Given the description of an element on the screen output the (x, y) to click on. 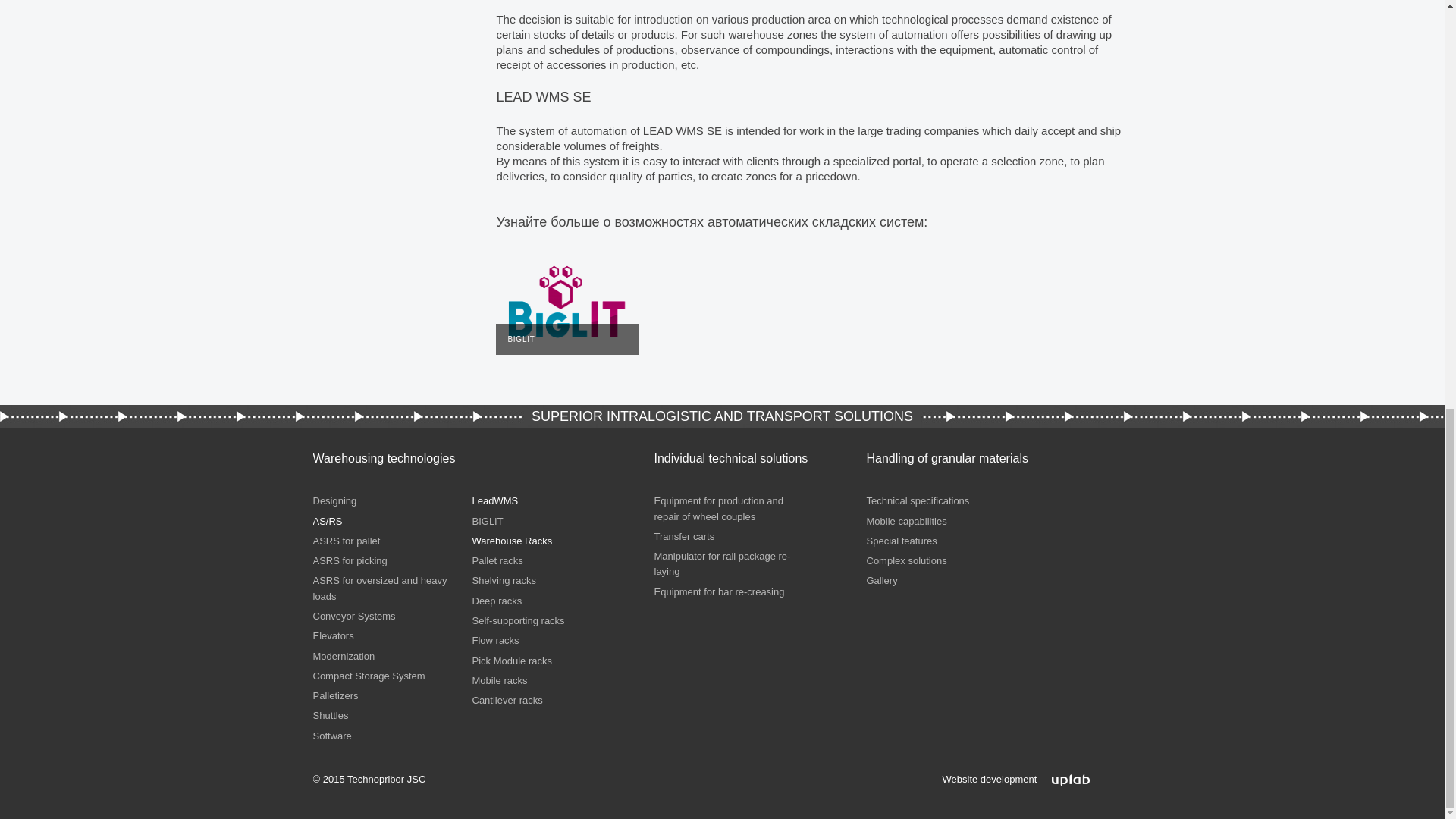
Designing (334, 500)
BIGLIT (567, 301)
uplab (1070, 779)
ASRS for pallet (346, 541)
Warehousing technologies (383, 458)
ASRS for picking (350, 560)
ASRS for oversized and heavy loads (379, 587)
